Given the description of an element on the screen output the (x, y) to click on. 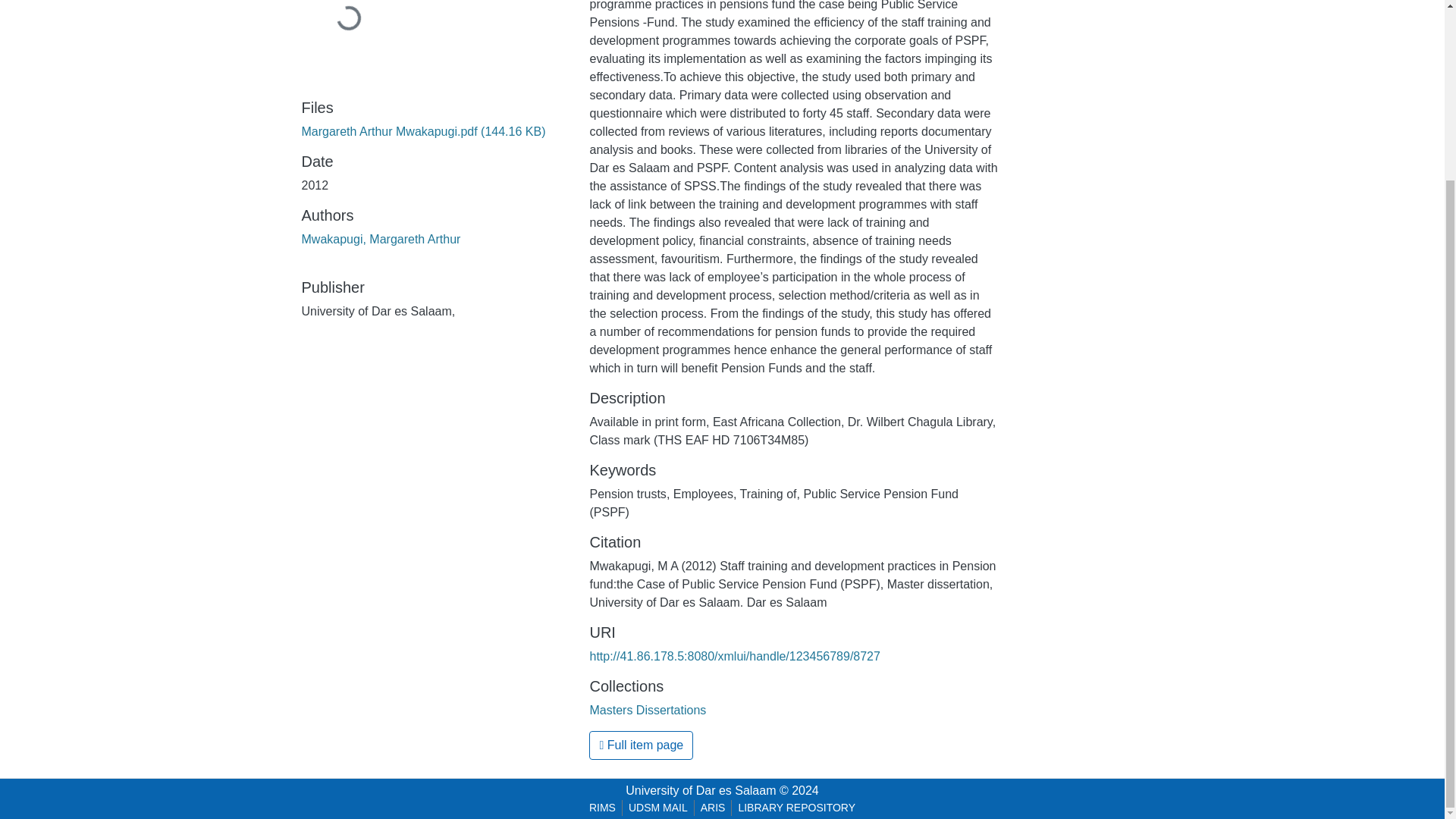
Full item page (641, 745)
LIBRARY REPOSITORY (796, 807)
RIMS (602, 807)
UDSM MAIL (658, 807)
Mwakapugi, Margareth Arthur (381, 238)
Masters Dissertations (647, 709)
ARIS (713, 807)
